Given the description of an element on the screen output the (x, y) to click on. 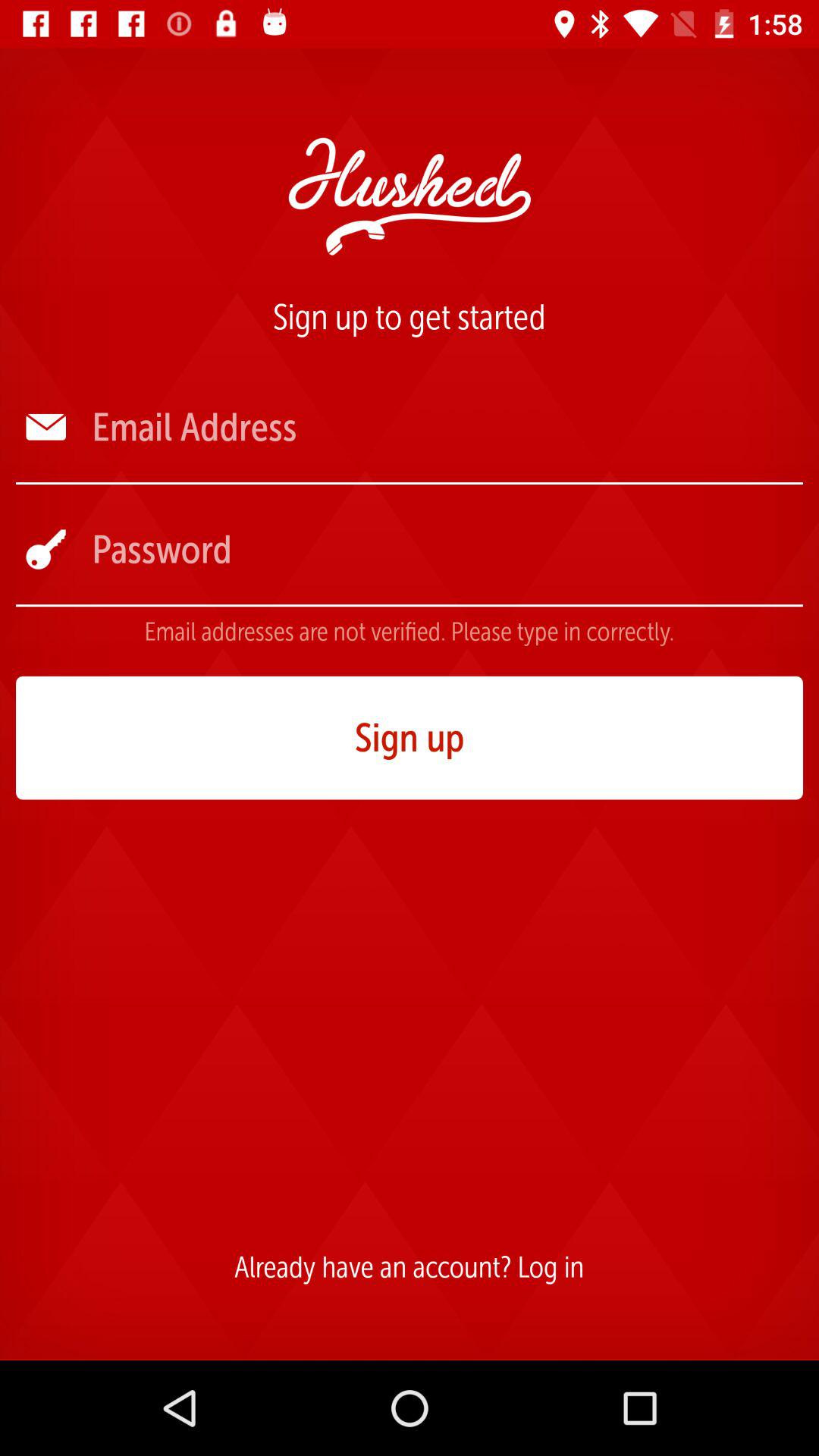
email adress blank bar red (446, 427)
